Given the description of an element on the screen output the (x, y) to click on. 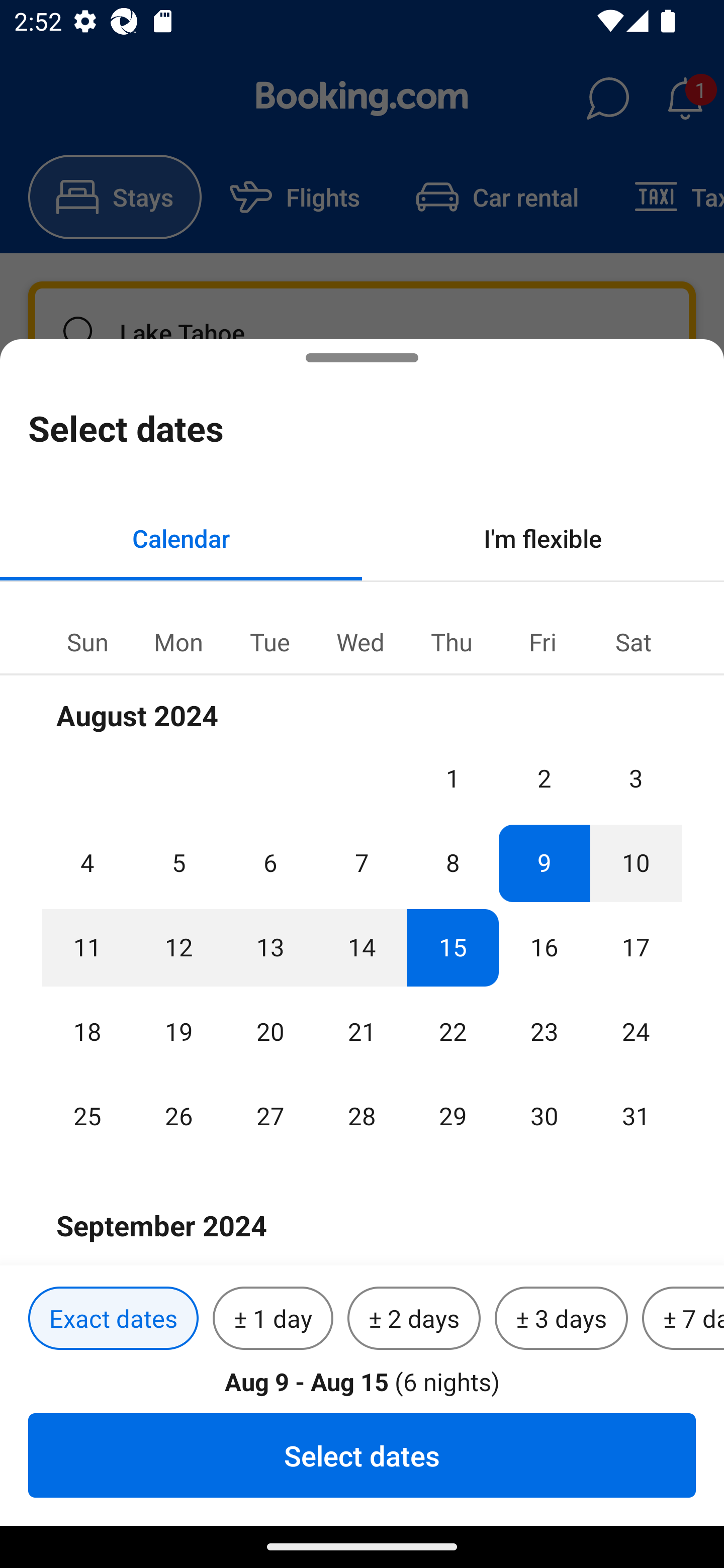
I'm flexible (543, 537)
Exact dates (113, 1318)
± 1 day (272, 1318)
± 2 days (413, 1318)
± 3 days (560, 1318)
± 7 days (683, 1318)
Select dates (361, 1454)
